Given the description of an element on the screen output the (x, y) to click on. 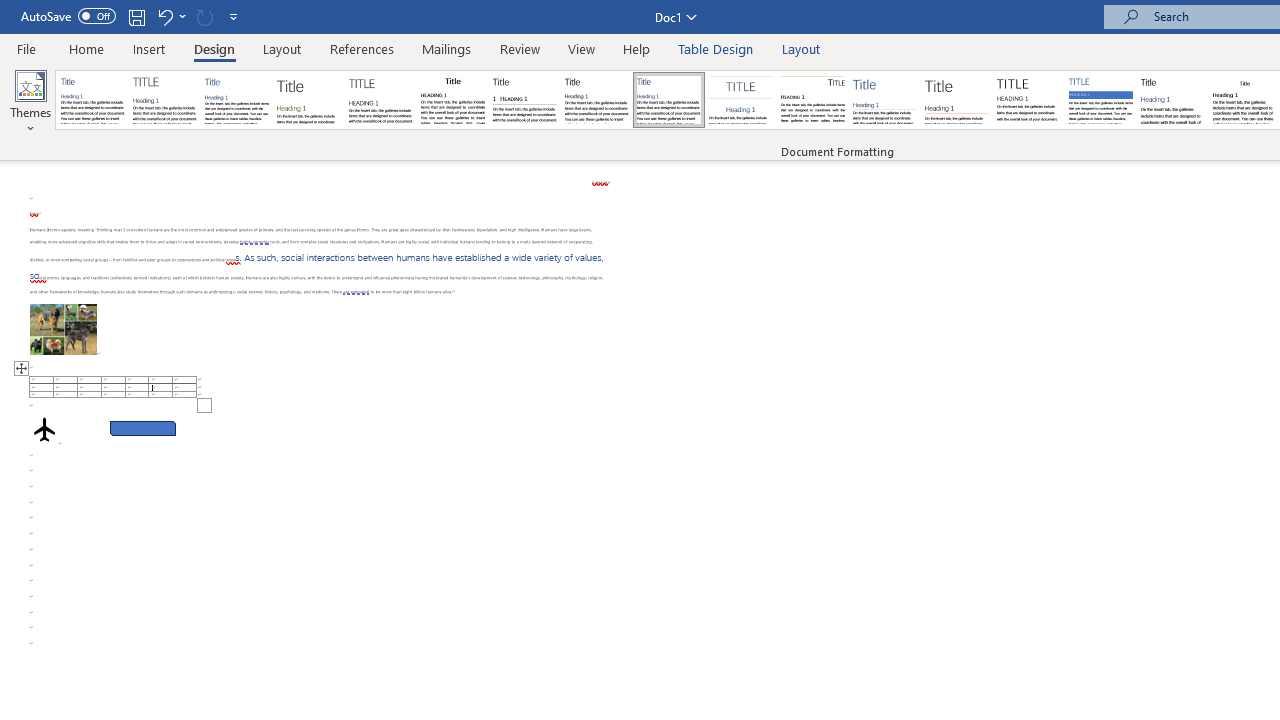
Centered (740, 100)
Document (93, 100)
Shaded (1100, 100)
Themes (30, 102)
Black & White (Capitalized) (381, 100)
Minimalist (1028, 100)
Black & White (Word 2013) (596, 100)
Undo Apply Quick Style Set (164, 15)
